Given the description of an element on the screen output the (x, y) to click on. 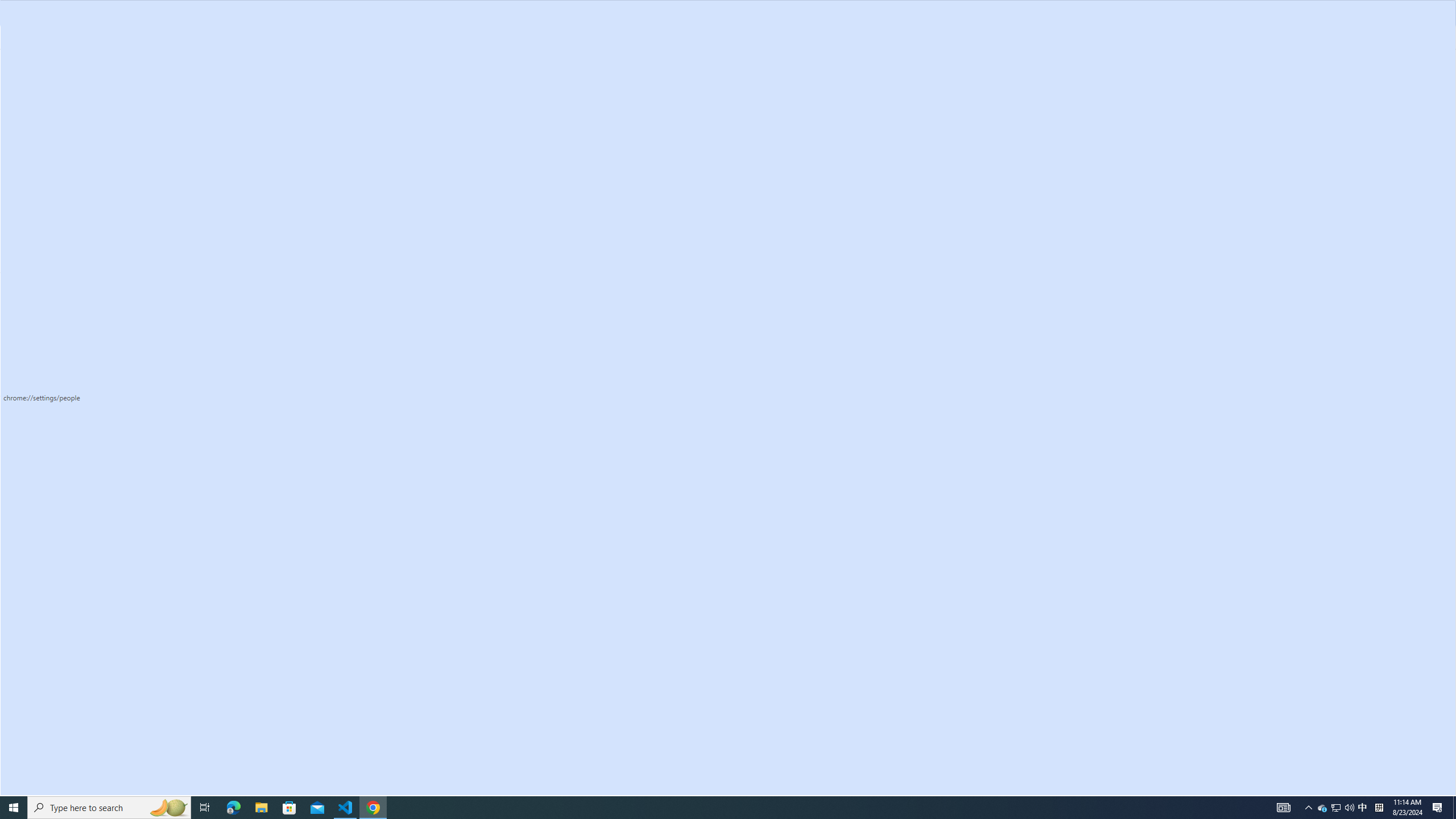
Autofill and passwords (70, 119)
Settings - You and Google (88, 11)
Accessibility (70, 333)
Manage your Google Account (904, 303)
Use another account (815, 244)
Languages (70, 288)
Extensions (70, 412)
